Given the description of an element on the screen output the (x, y) to click on. 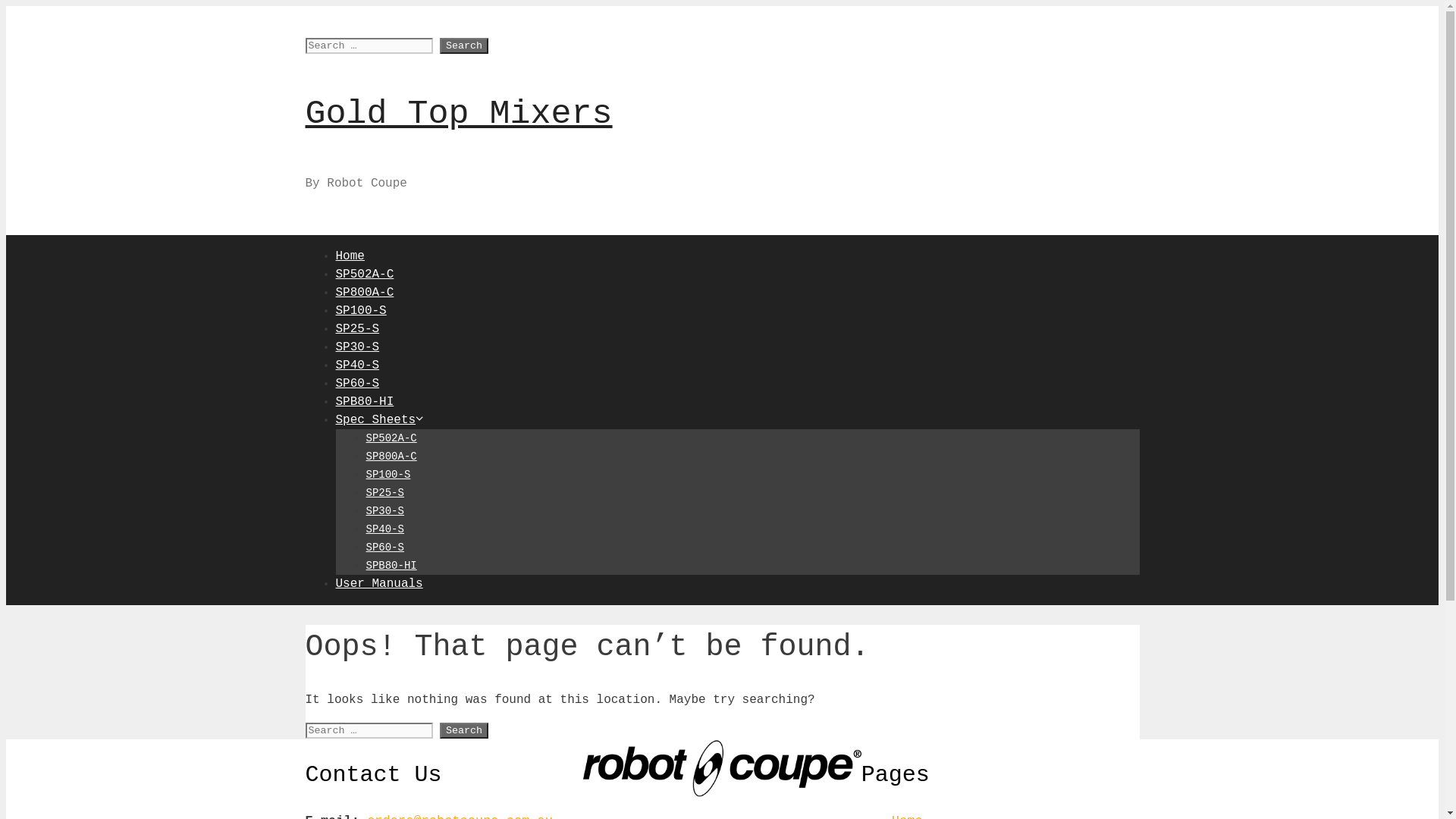
SP30-S Element type: text (384, 511)
Home Element type: text (349, 255)
SP100-S Element type: text (387, 474)
SP800A-C Element type: text (364, 291)
SP60-S Element type: text (384, 547)
SP40-S Element type: text (384, 529)
Search Element type: text (463, 730)
SP25-S Element type: text (384, 492)
Search for: Element type: hover (368, 730)
SP100-S Element type: text (360, 309)
Search for: Element type: hover (368, 45)
Spec Sheets Element type: text (379, 419)
Gold Top Mixers Element type: text (457, 113)
SP60-S Element type: text (357, 382)
SPB80-HI Element type: text (390, 565)
SP502A-C Element type: text (364, 273)
SP800A-C Element type: text (390, 456)
SP40-S Element type: text (357, 364)
User Manuals Element type: text (378, 582)
SP30-S Element type: text (357, 346)
SPB80-HI Element type: text (364, 400)
SP502A-C Element type: text (390, 438)
SP25-S Element type: text (357, 328)
Skip to content Element type: text (5, 5)
Search Element type: text (463, 45)
